Given the description of an element on the screen output the (x, y) to click on. 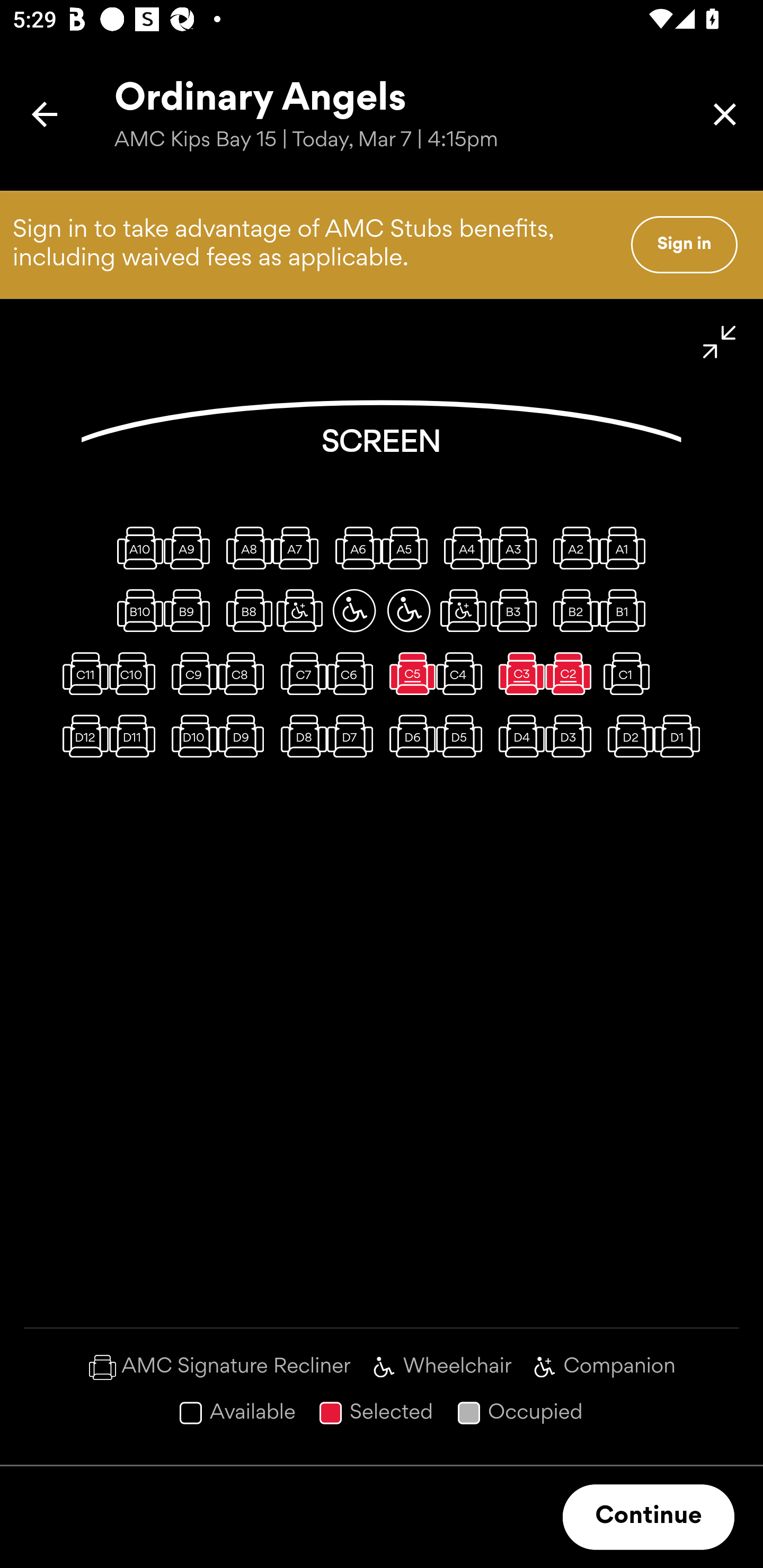
Back (44, 114)
Close (724, 114)
Sign in (684, 244)
Minimize (719, 342)
A10, Regular seat, available (136, 547)
A9, Regular seat, available (190, 547)
A8, Regular seat, available (244, 547)
A7, Regular seat, available (299, 547)
A6, Regular seat, available (353, 547)
A5, Regular seat, available (408, 547)
A4, Regular seat, available (463, 547)
A3, Regular seat, available (517, 547)
A2, Regular seat, available (571, 547)
A1, Regular seat, available (625, 547)
B10, Regular seat, available (136, 610)
B9, Regular seat, available (190, 610)
B8, Regular seat, available (244, 610)
B7, Wheelchair companion seat, available (299, 610)
B6, Wheelchair space, available (353, 610)
B5, Wheelchair space, available (408, 610)
B4, Wheelchair companion seat, available (463, 610)
B3, Regular seat, available (517, 610)
B2, Regular seat, available (571, 610)
B1, Regular seat, available (625, 610)
C11, Regular seat, available (81, 672)
C10, Regular seat, available (136, 672)
C9, Regular seat, available (190, 672)
C8, Regular seat, available (244, 672)
C7, Regular seat, available (299, 672)
C6, Regular seat, available (353, 672)
C5, Regular seat, selected (408, 672)
C4, Regular seat, available (463, 672)
C3, Regular seat, selected (517, 672)
C2, Regular seat, selected (571, 672)
C1, Regular seat, available (625, 672)
D12, Regular seat, available (81, 736)
D11, Regular seat, available (136, 736)
D10, Regular seat, available (190, 736)
D9, Regular seat, available (244, 736)
D8, Regular seat, available (299, 736)
D7, Regular seat, available (353, 736)
D6, Regular seat, available (408, 736)
D5, Regular seat, available (463, 736)
D4, Regular seat, available (517, 736)
D3, Regular seat, available (571, 736)
D2, Regular seat, available (625, 736)
D1, Regular seat, available (680, 736)
Continue (648, 1516)
